Given the description of an element on the screen output the (x, y) to click on. 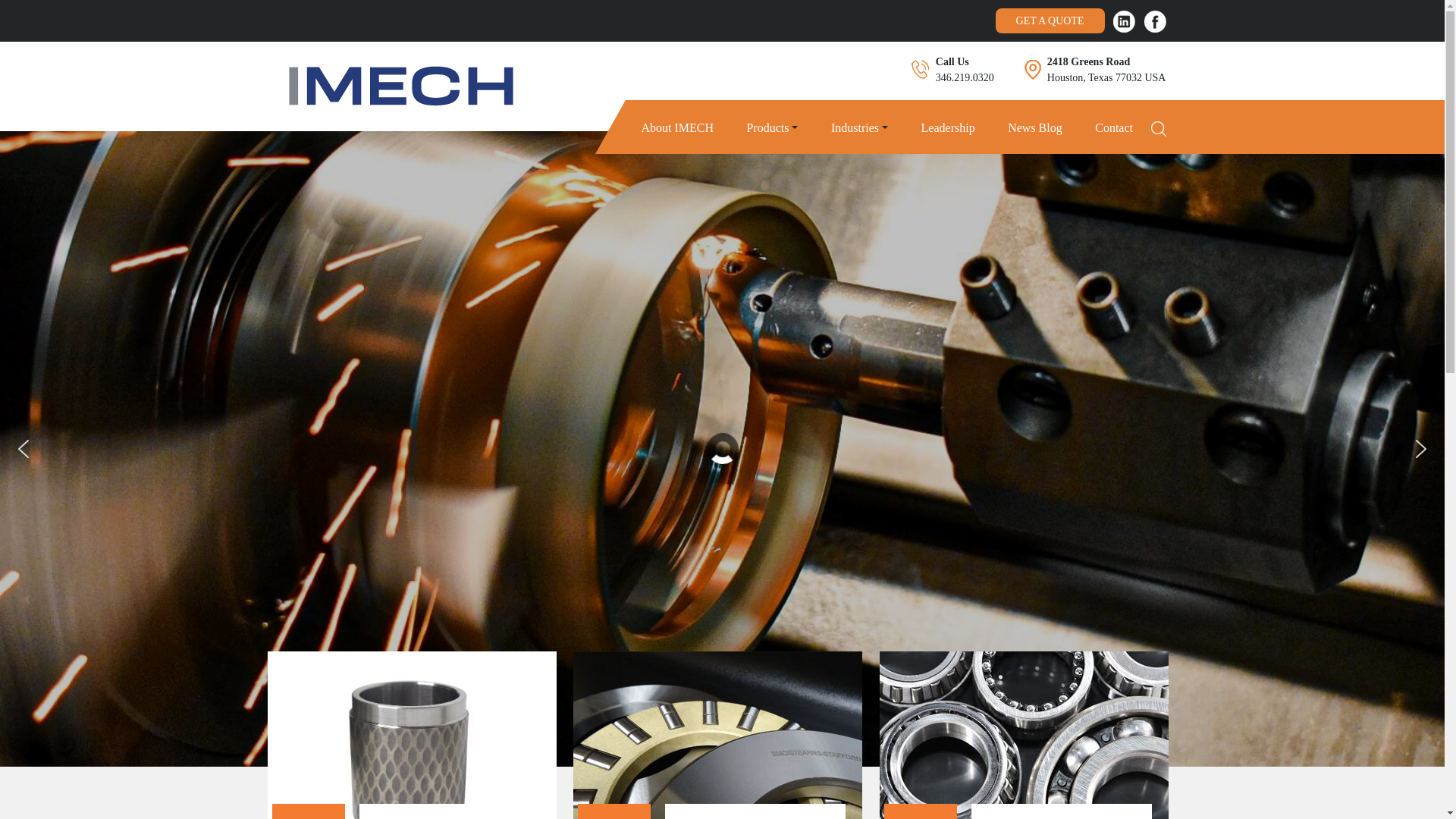
Industries (855, 127)
About IMECH (676, 127)
News Blog (1034, 127)
Products (767, 127)
Leadership (948, 127)
GET A QUOTE (1048, 20)
Contact (1113, 127)
